Given the description of an element on the screen output the (x, y) to click on. 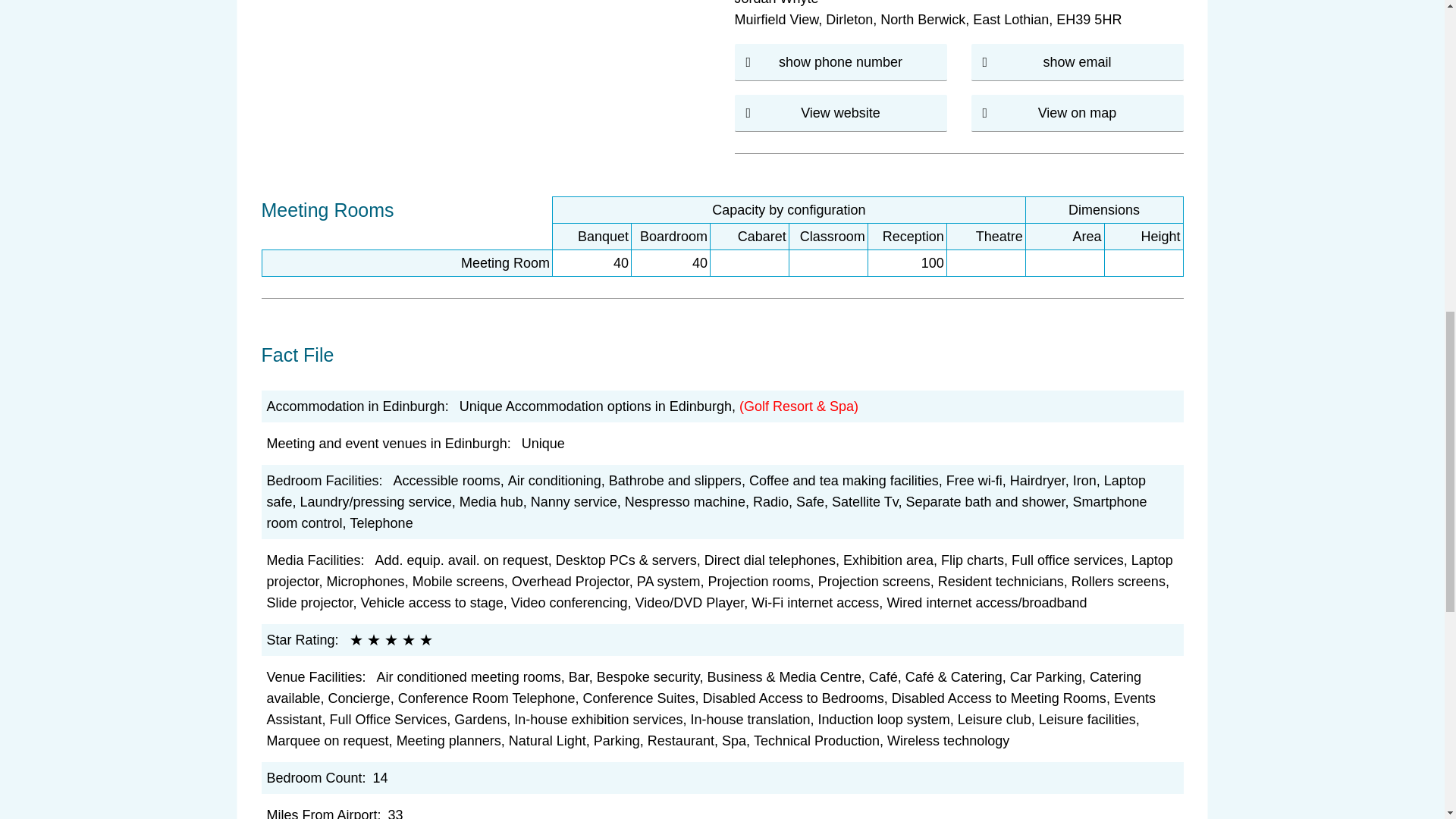
Meeting and event venues in Edinburgh (386, 443)
View website (840, 112)
View on map (1077, 112)
Unique Accommodation options in Edinburgh (596, 406)
show email (1076, 61)
Accommodation in Edinburgh (355, 406)
Unique (542, 443)
show phone number (840, 61)
